Given the description of an element on the screen output the (x, y) to click on. 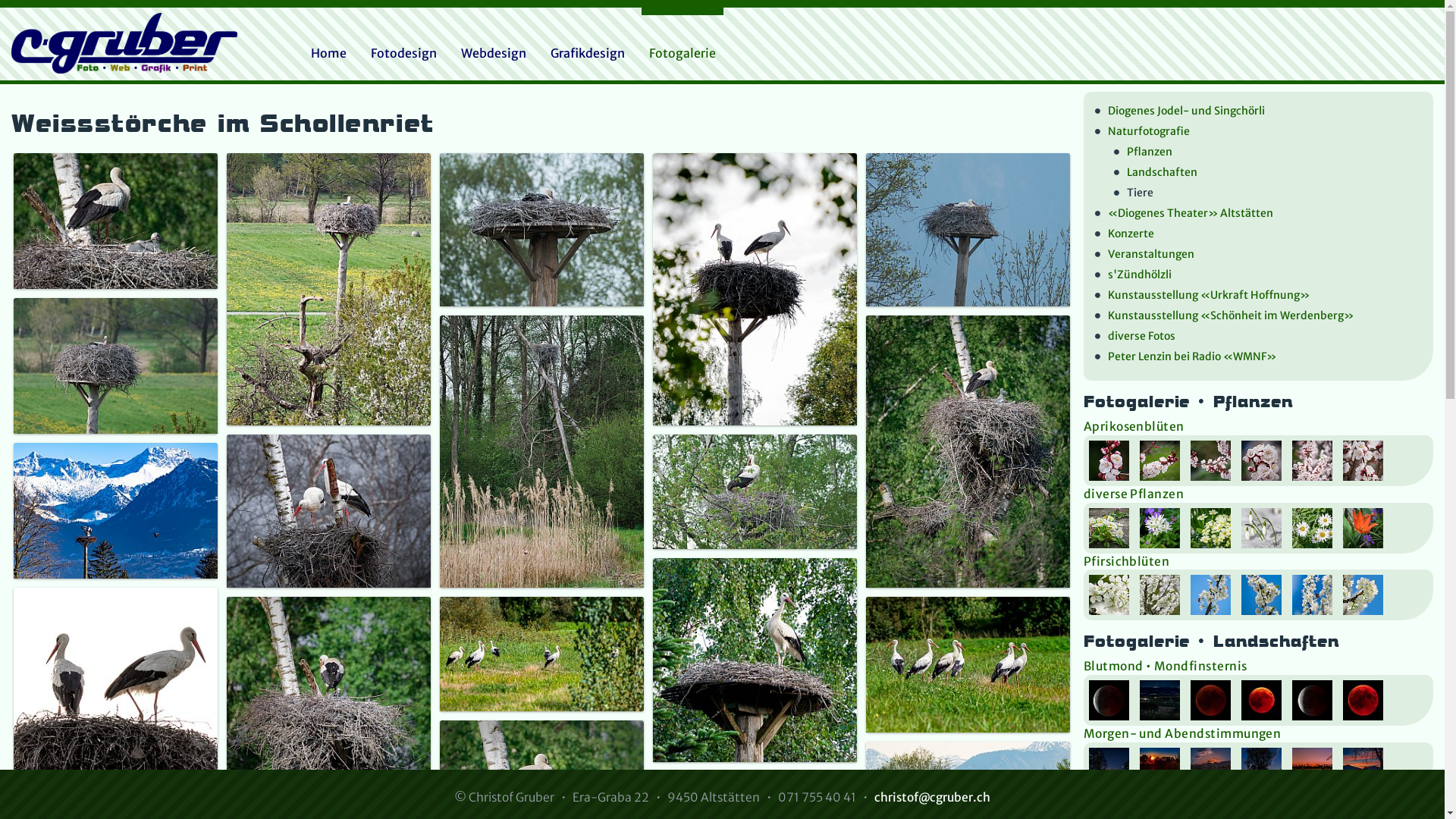
Weissstorch (13.06.2015) Element type: hover (754, 660)
christof@cgruber.ch Element type: text (932, 797)
Landschaften Element type: text (1267, 173)
diverse Pflanzen Element type: text (1133, 493)
Grafikdesign Element type: text (587, 53)
Fotogalerie Element type: text (682, 53)
Naturfotografie Element type: text (1258, 132)
Pflanzen Element type: text (1267, 153)
Fotodesign Element type: text (403, 53)
Weissstorch (13.06.2015) Element type: hover (115, 689)
Konzerte Element type: text (1258, 234)
diverse Fotos Element type: text (1258, 337)
Webdesign Element type: text (493, 53)
Weissstorch (13.06.2015) Element type: hover (754, 289)
Veranstaltungen Element type: text (1258, 255)
Home Element type: text (328, 53)
Morgen- und Abendstimmungen Element type: text (1182, 733)
Tiere Element type: text (1267, 194)
